Given the description of an element on the screen output the (x, y) to click on. 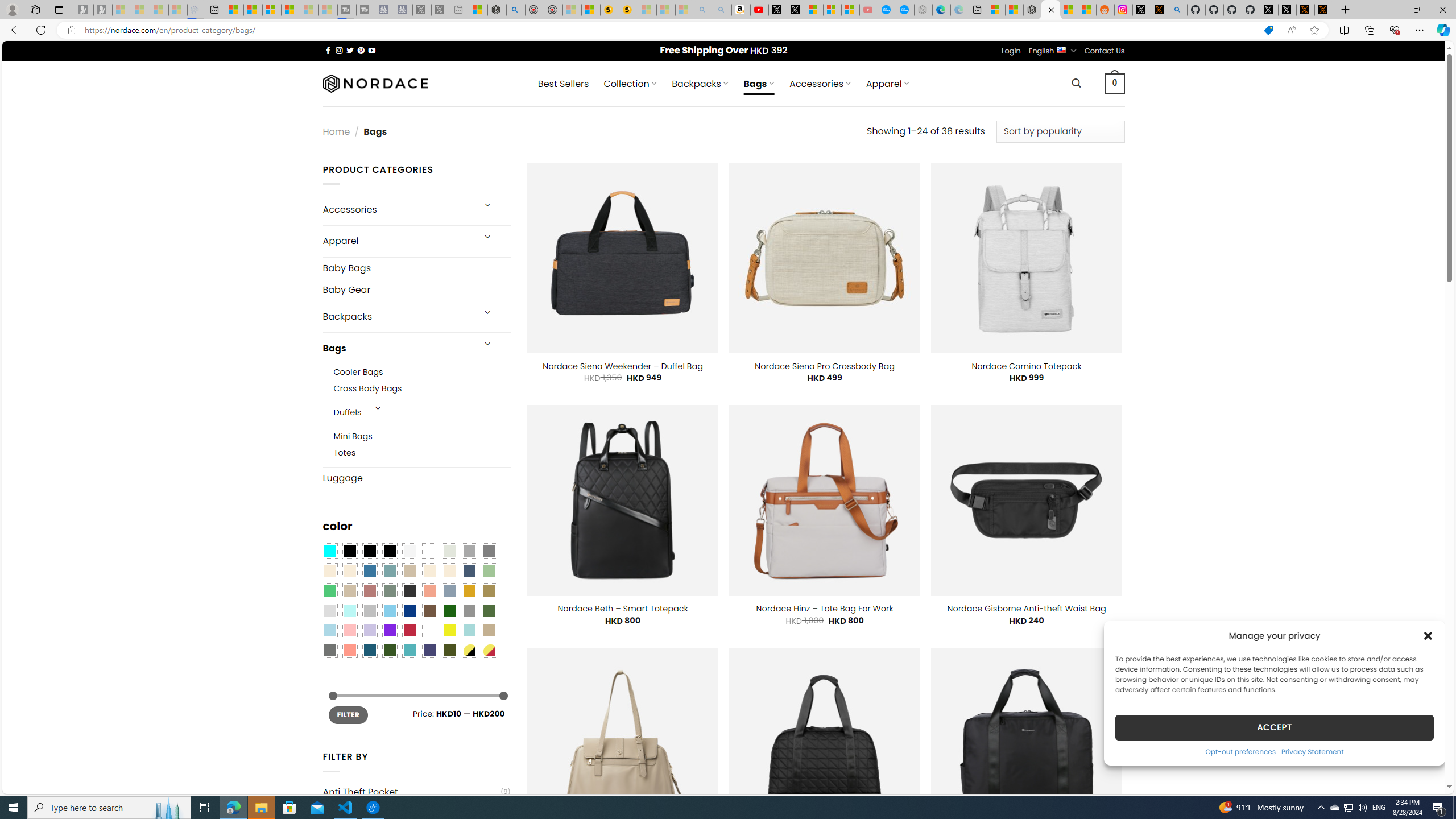
Restore (1416, 9)
Rose (369, 590)
Capri Blue (369, 649)
Follow on Facebook (327, 49)
All Gray (488, 550)
Blue (369, 570)
View site information (70, 29)
New Tab (1346, 9)
Emerald Green (329, 590)
Follow on Instagram (338, 49)
Brownie (408, 570)
Nordace (374, 83)
Aqua Blue (329, 550)
